Given the description of an element on the screen output the (x, y) to click on. 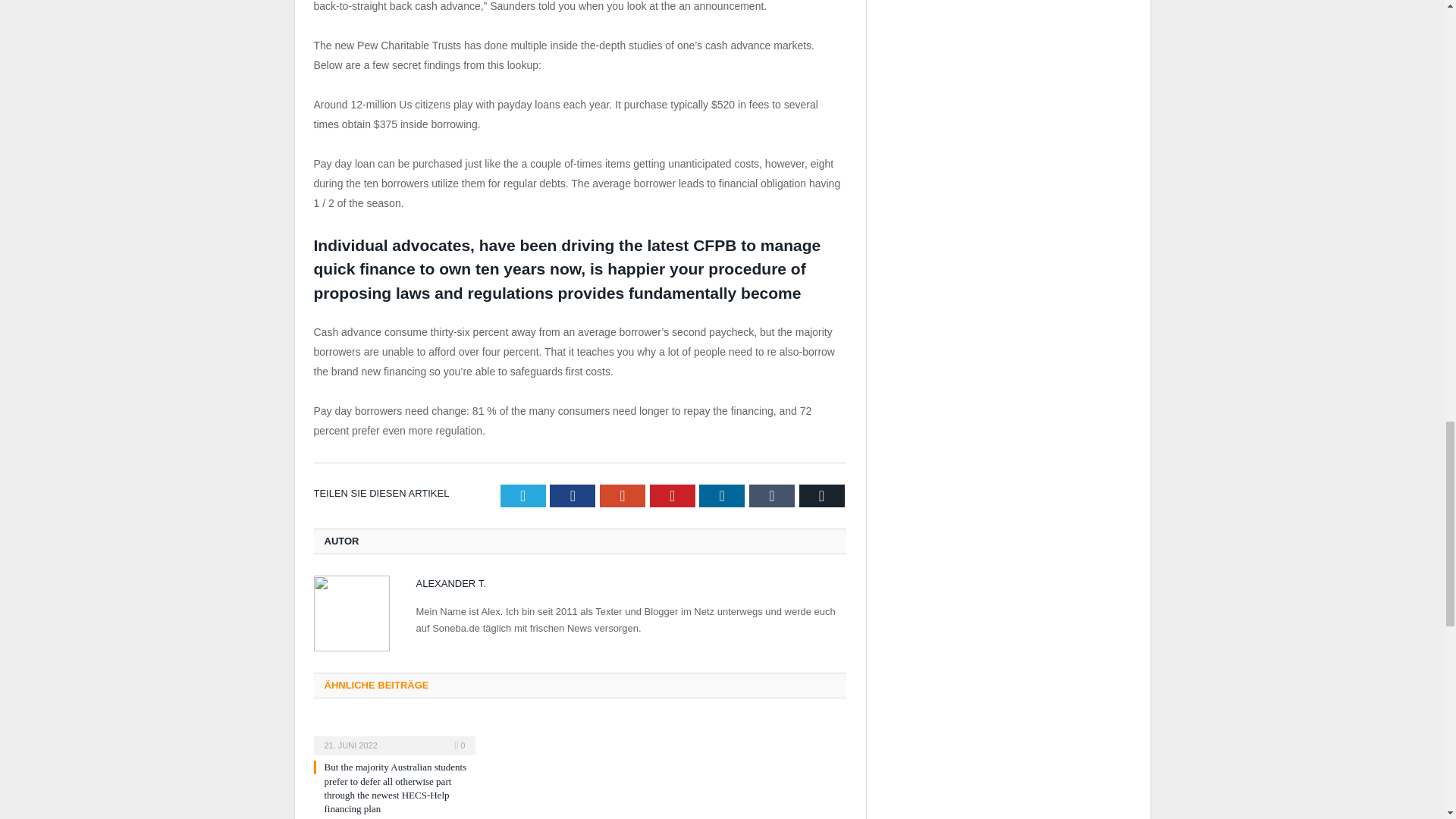
Facebook (572, 495)
Tumblr (771, 495)
Email (821, 495)
ALEXANDER T. (449, 583)
Pinterest (672, 495)
Twitter (523, 495)
LinkedIn (721, 495)
